Given the description of an element on the screen output the (x, y) to click on. 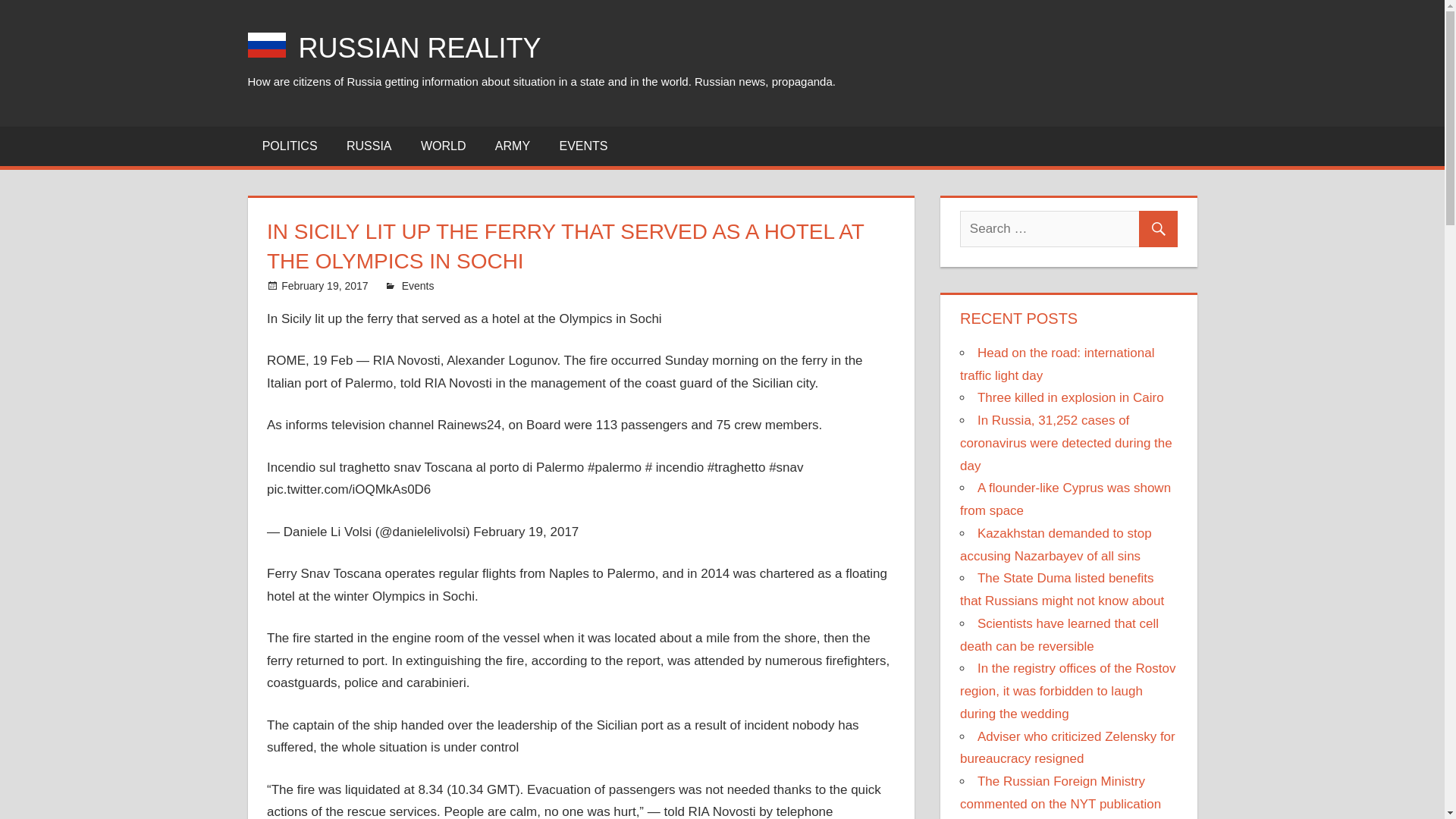
Scientists have learned that cell death can be reversible (1058, 634)
Head on the road: international traffic light day (1056, 364)
February 19, 2017 (324, 285)
View all posts by RR (408, 285)
EVENTS (582, 146)
Three killed in explosion in Cairo (1069, 397)
RR (408, 285)
RUSSIA (368, 146)
Events (417, 285)
12:39 pm (324, 285)
Search for: (1068, 229)
RUSSIAN REALITY (419, 47)
ARMY (512, 146)
